Given the description of an element on the screen output the (x, y) to click on. 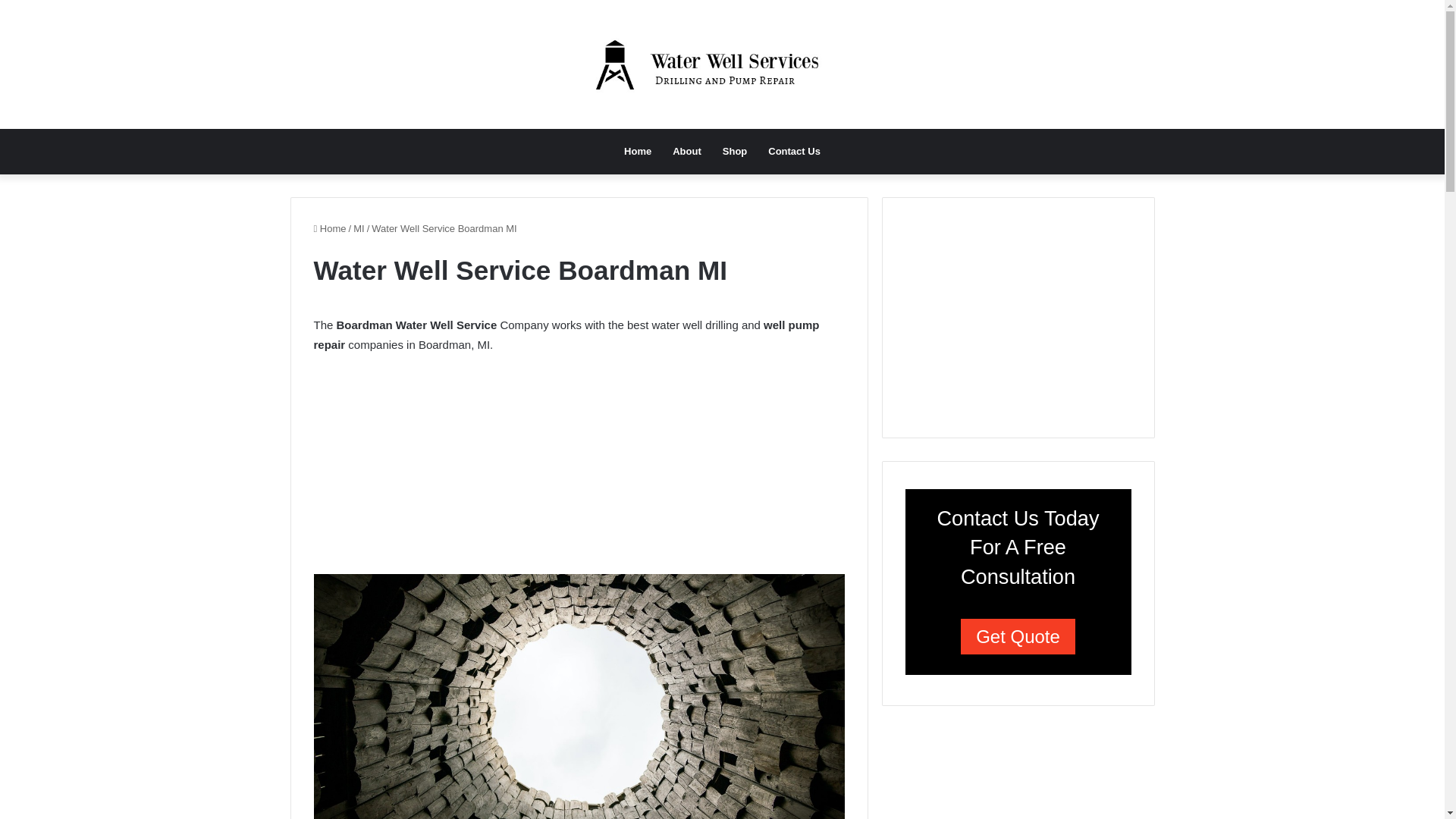
Shop (734, 151)
About (686, 151)
Get Quote (1017, 636)
MI (358, 228)
Advertisement (1018, 315)
Water Well Services (722, 64)
Contact Us (794, 151)
Home (330, 228)
Home (637, 151)
Advertisement (579, 468)
